Given the description of an element on the screen output the (x, y) to click on. 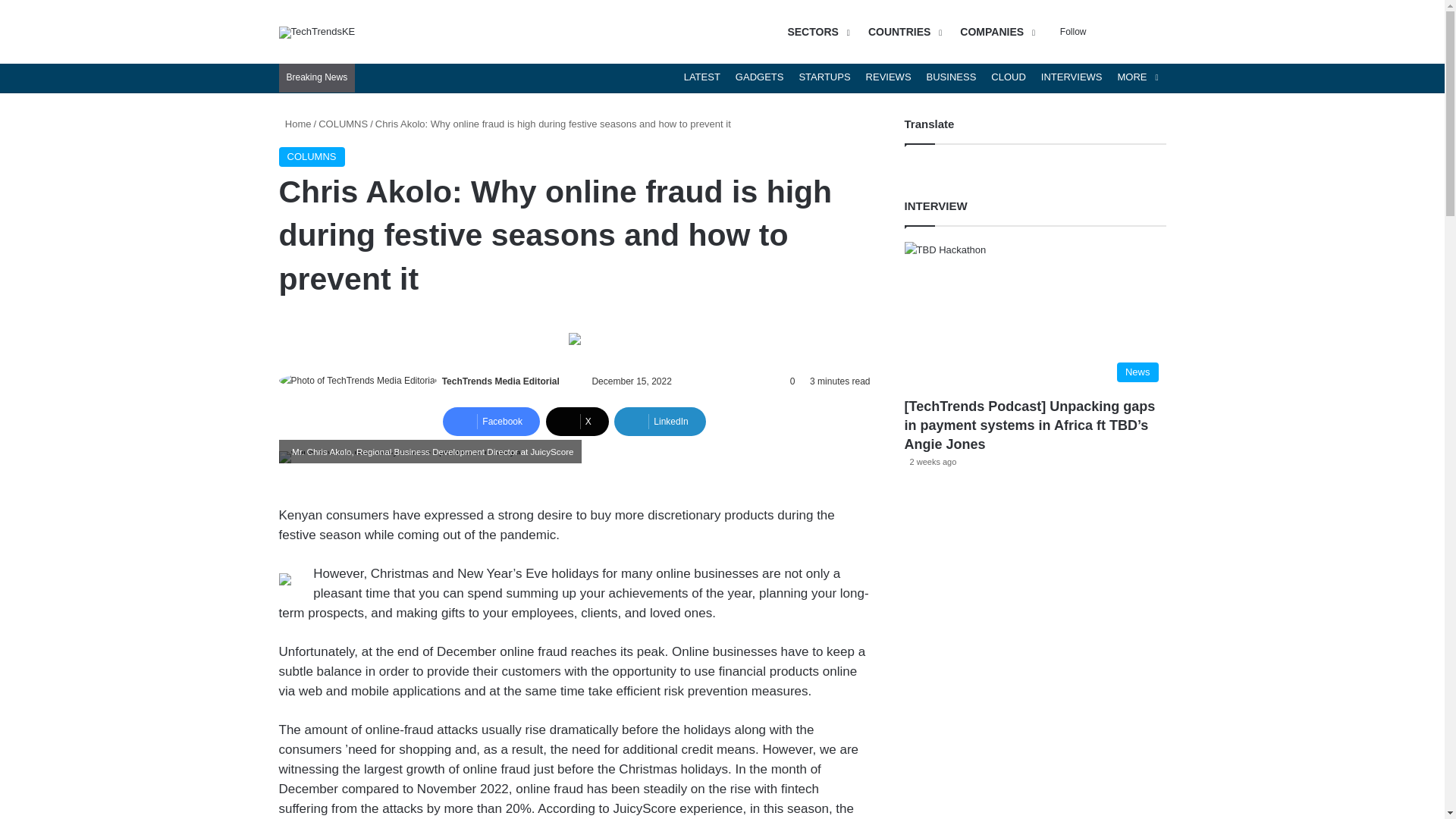
TechTrends Media Editorial (500, 380)
COUNTRIES (903, 31)
SECTORS (816, 31)
Facebook (491, 421)
X (577, 421)
TechTrendsKE (317, 31)
LinkedIn (659, 421)
COMPANIES (995, 31)
